Given the description of an element on the screen output the (x, y) to click on. 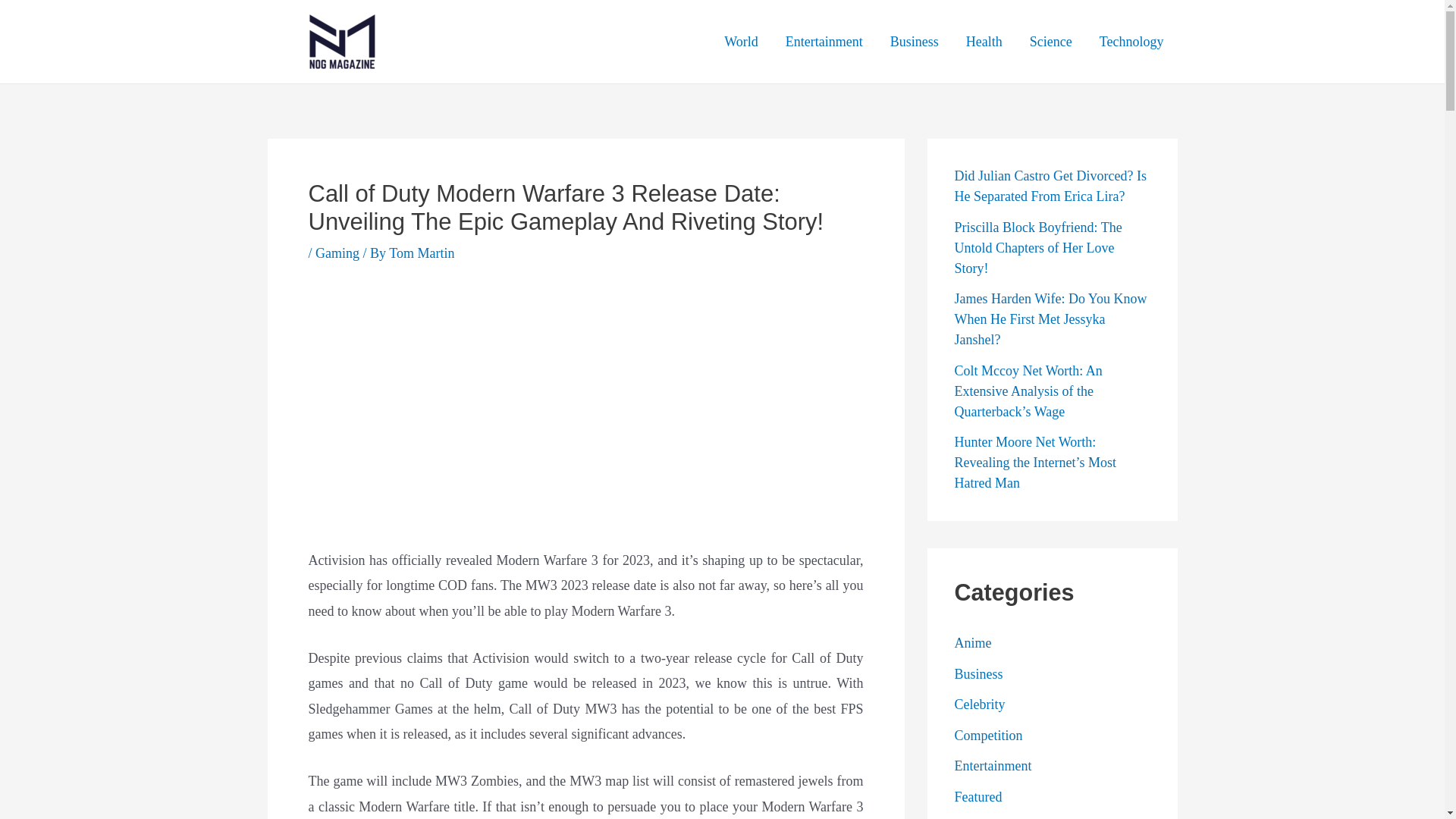
View all posts by Tom Martin (421, 253)
Business (914, 41)
Gaming (337, 253)
Technology (1131, 41)
World (740, 41)
Science (1051, 41)
Health (984, 41)
Tom Martin (421, 253)
Entertainment (823, 41)
